Given the description of an element on the screen output the (x, y) to click on. 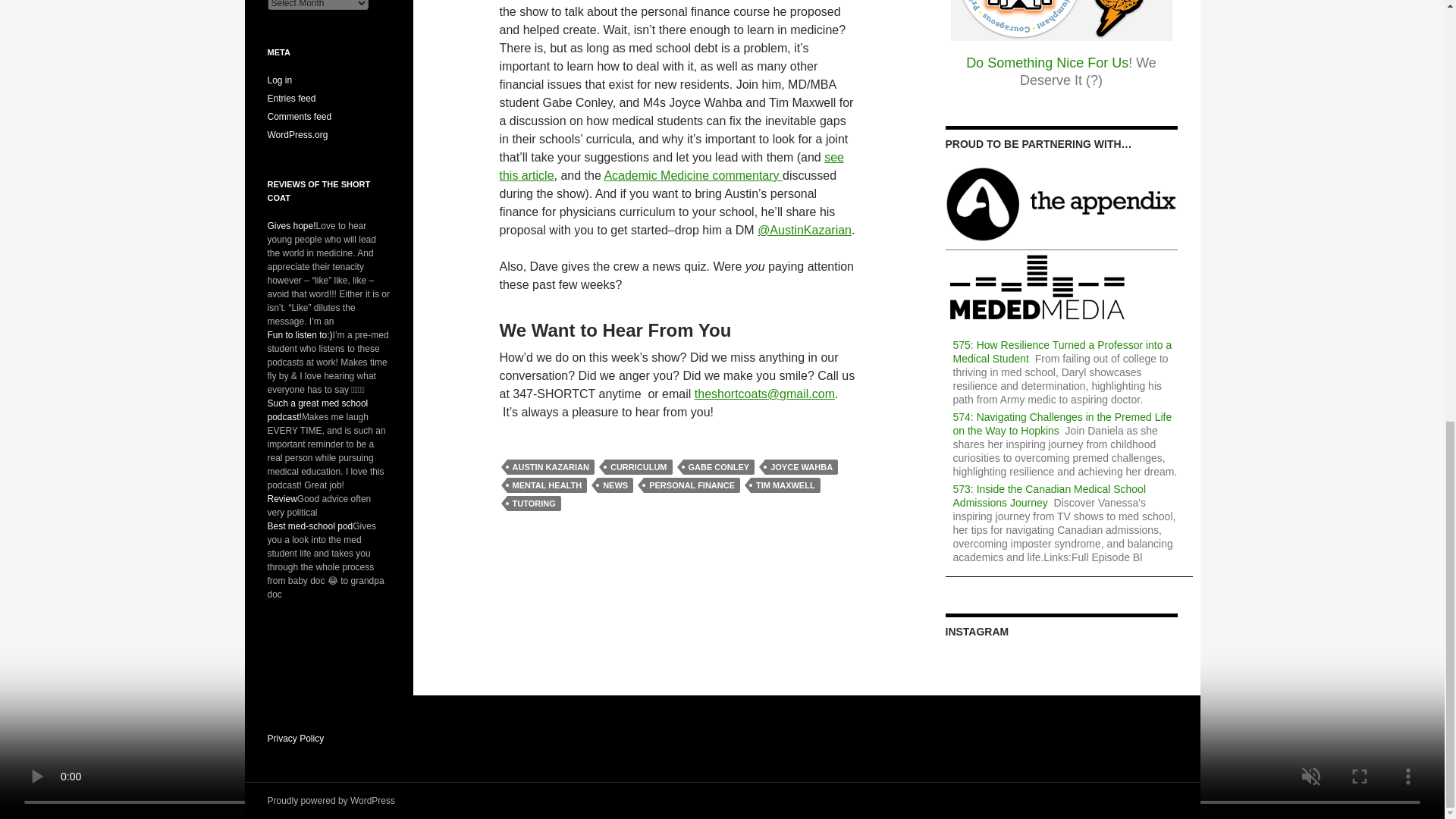
see this article (671, 165)
Academic Medicine commentary (693, 174)
CURRICULUM (638, 467)
AUSTIN KAZARIAN (550, 467)
GABE CONLEY (718, 467)
